Given the description of an element on the screen output the (x, y) to click on. 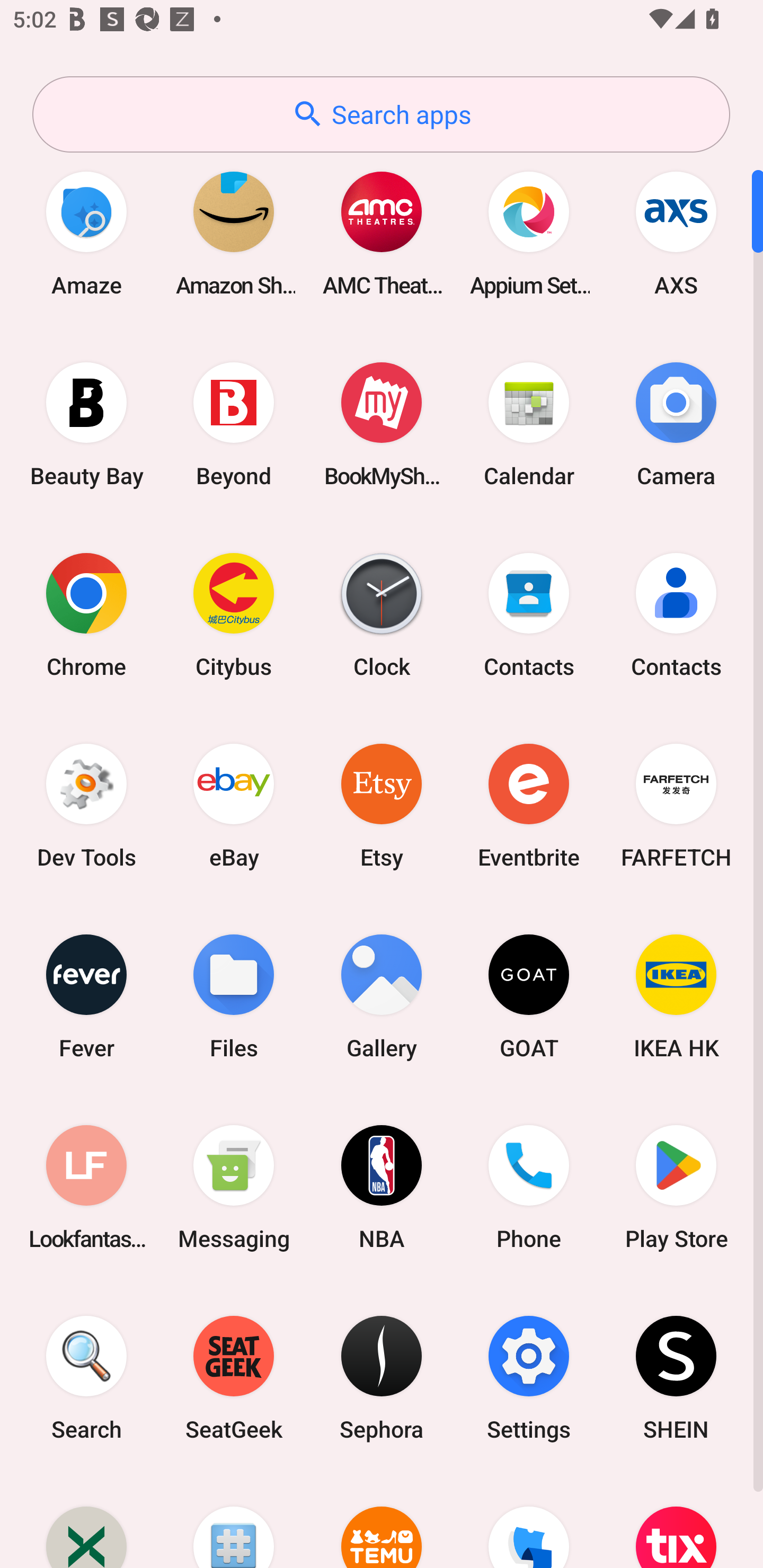
  Search apps (381, 114)
Amaze (86, 233)
Amazon Shopping (233, 233)
AMC Theatres (381, 233)
Appium Settings (528, 233)
AXS (676, 233)
Beauty Bay (86, 424)
Beyond (233, 424)
BookMyShow (381, 424)
Calendar (528, 424)
Camera (676, 424)
Chrome (86, 614)
Citybus (233, 614)
Clock (381, 614)
Contacts (528, 614)
Contacts (676, 614)
Dev Tools (86, 805)
eBay (233, 805)
Etsy (381, 805)
Eventbrite (528, 805)
FARFETCH (676, 805)
Fever (86, 996)
Files (233, 996)
Gallery (381, 996)
GOAT (528, 996)
IKEA HK (676, 996)
Lookfantastic (86, 1186)
Messaging (233, 1186)
NBA (381, 1186)
Phone (528, 1186)
Play Store (676, 1186)
Search (86, 1377)
SeatGeek (233, 1377)
Sephora (381, 1377)
Settings (528, 1377)
SHEIN (676, 1377)
StockX (86, 1520)
Superuser (233, 1520)
Temu (381, 1520)
TickPick (528, 1520)
TodayTix (676, 1520)
